Given the description of an element on the screen output the (x, y) to click on. 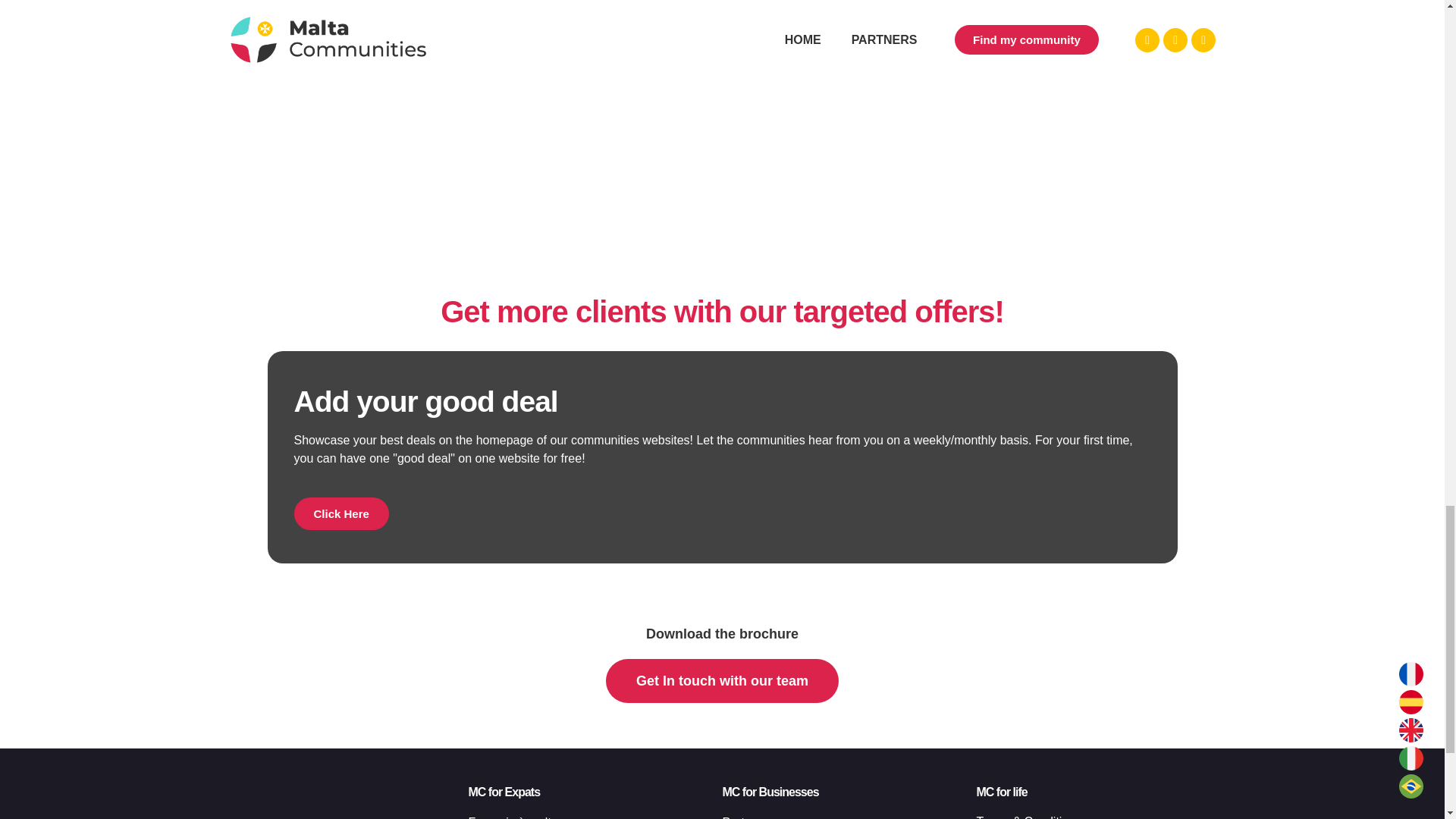
Click Here (341, 513)
Download the brochure (721, 633)
Get In touch with our team (721, 680)
Partners (848, 816)
